Given the description of an element on the screen output the (x, y) to click on. 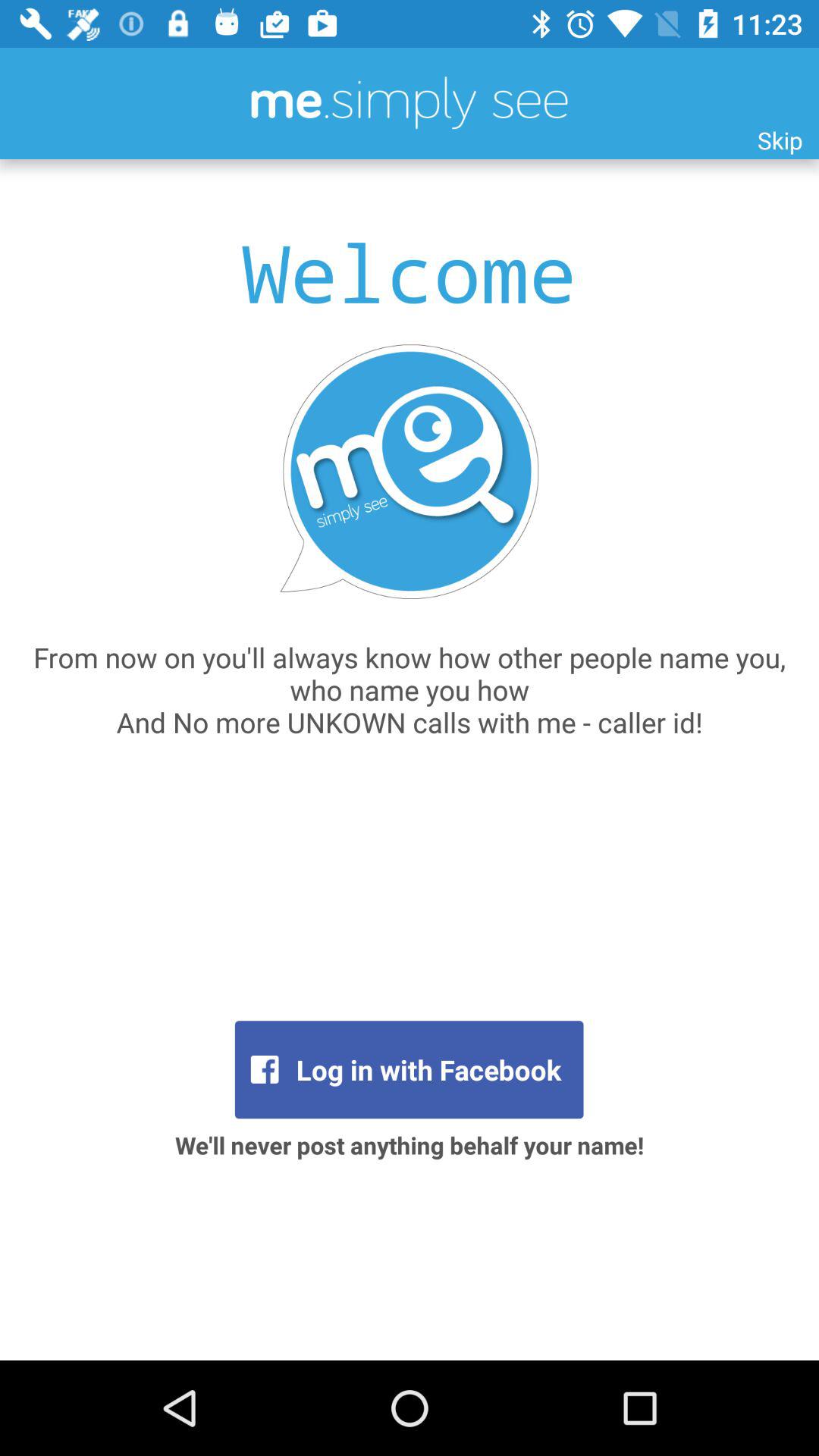
turn on the icon above the we ll never (408, 1069)
